Given the description of an element on the screen output the (x, y) to click on. 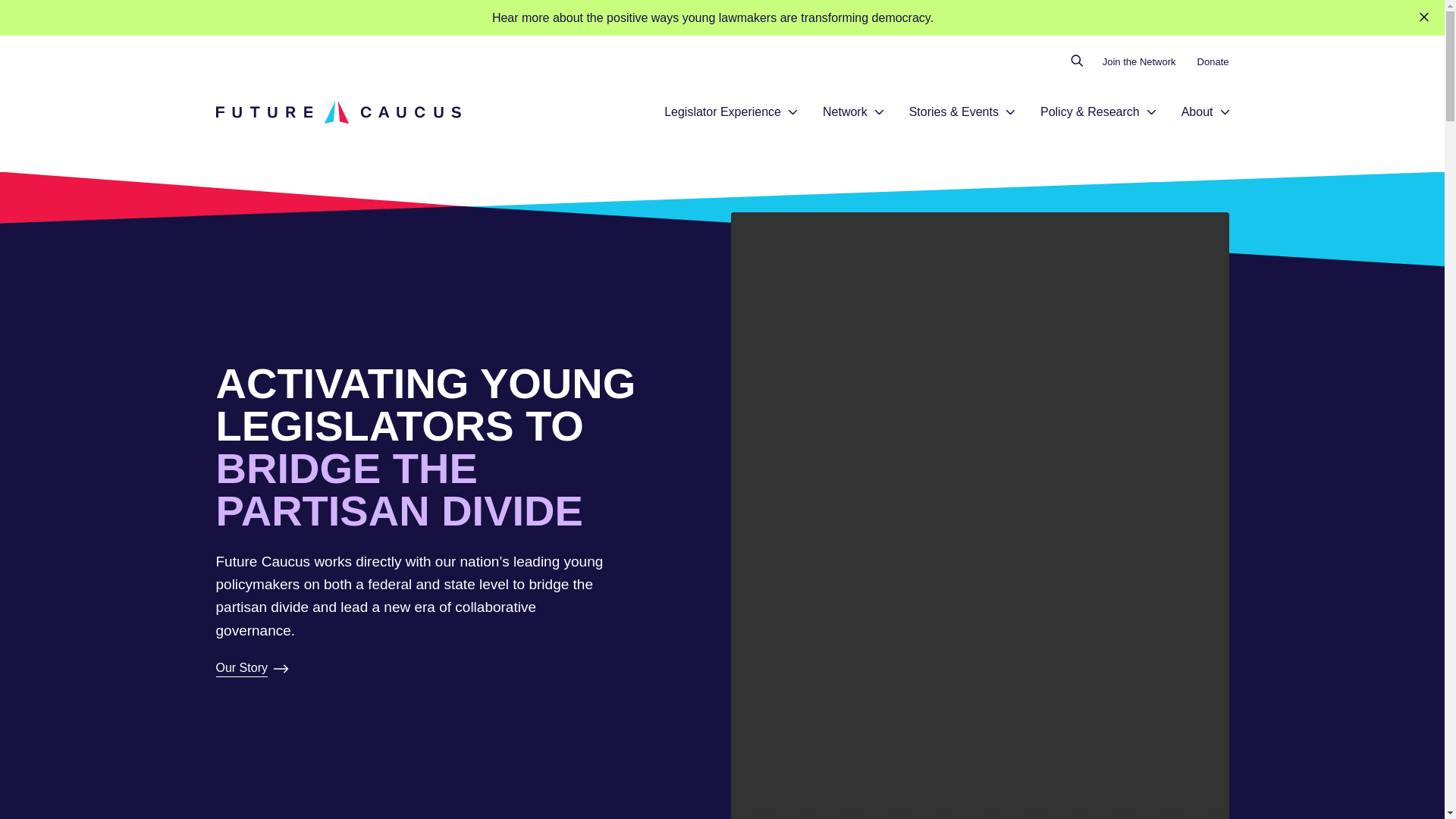
About (1197, 112)
Legislator Experience (722, 112)
Network (845, 112)
